Given the description of an element on the screen output the (x, y) to click on. 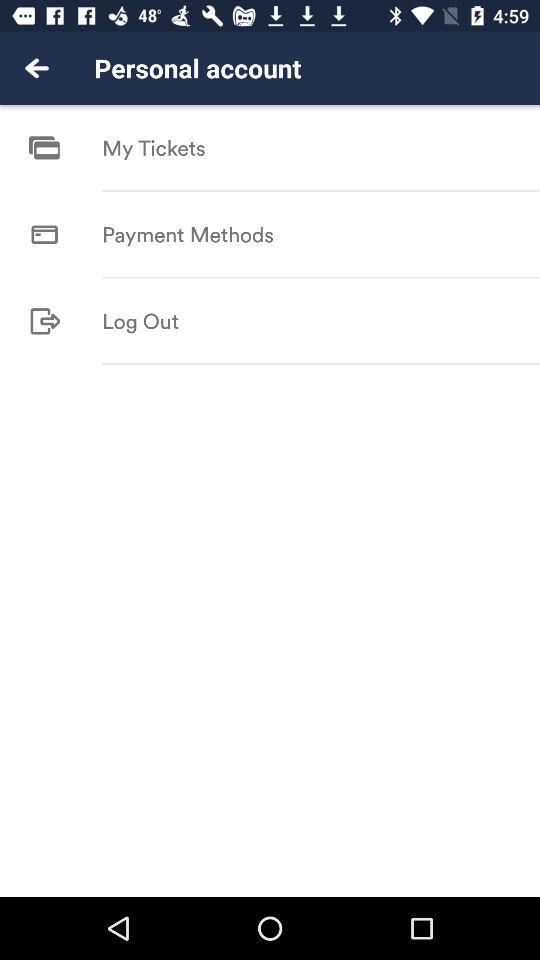
launch the icon below personal account (153, 147)
